Given the description of an element on the screen output the (x, y) to click on. 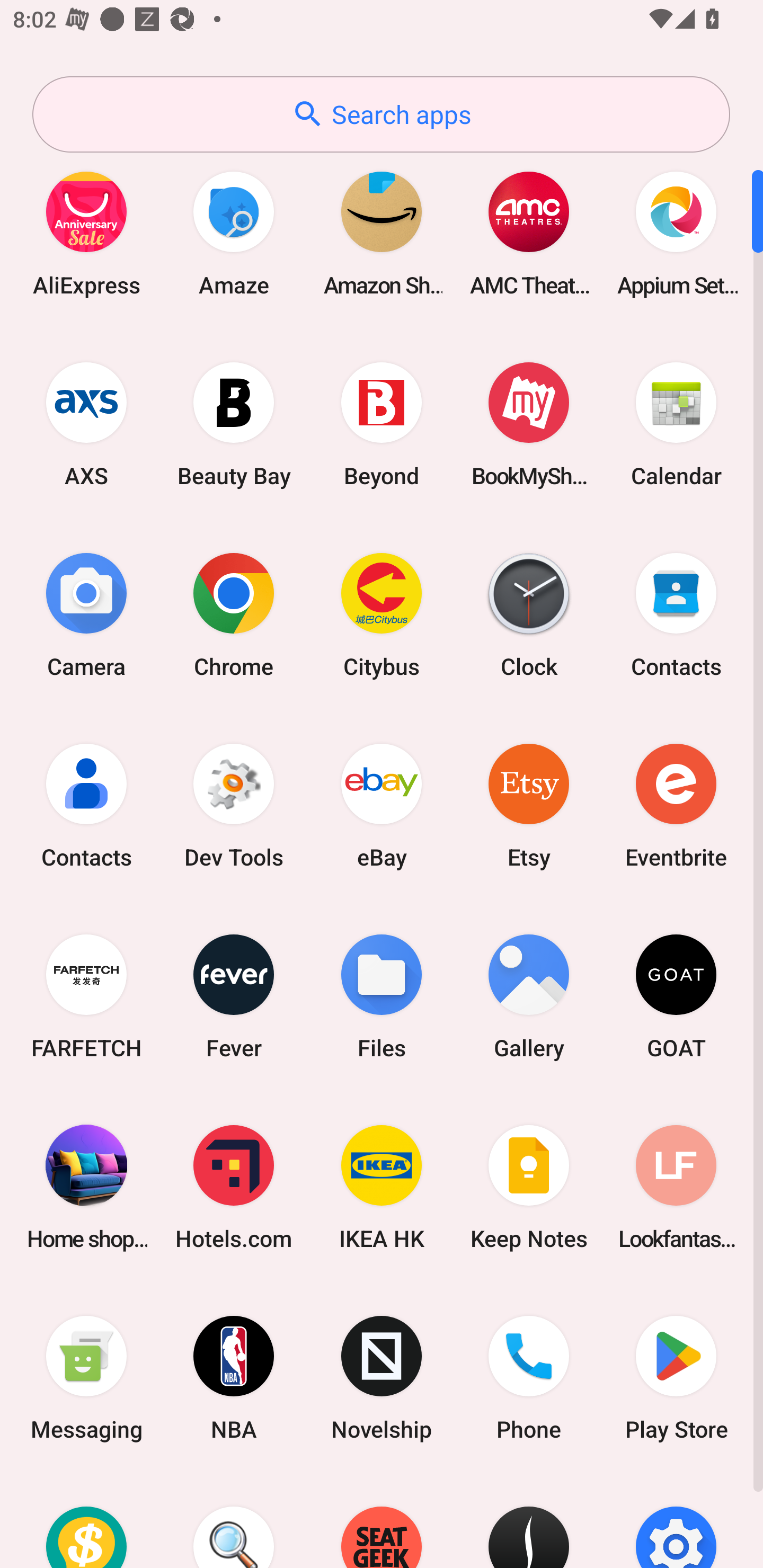
  Search apps (381, 114)
AliExpress (86, 233)
Amaze (233, 233)
Amazon Shopping (381, 233)
AMC Theatres (528, 233)
Appium Settings (676, 233)
AXS (86, 424)
Beauty Bay (233, 424)
Beyond (381, 424)
BookMyShow (528, 424)
Calendar (676, 424)
Camera (86, 614)
Chrome (233, 614)
Citybus (381, 614)
Clock (528, 614)
Contacts (676, 614)
Contacts (86, 805)
Dev Tools (233, 805)
eBay (381, 805)
Etsy (528, 805)
Eventbrite (676, 805)
FARFETCH (86, 996)
Fever (233, 996)
Files (381, 996)
Gallery (528, 996)
GOAT (676, 996)
Home shopping (86, 1186)
Hotels.com (233, 1186)
IKEA HK (381, 1186)
Keep Notes (528, 1186)
Lookfantastic (676, 1186)
Messaging (86, 1377)
NBA (233, 1377)
Novelship (381, 1377)
Phone (528, 1377)
Play Store (676, 1377)
